Given the description of an element on the screen output the (x, y) to click on. 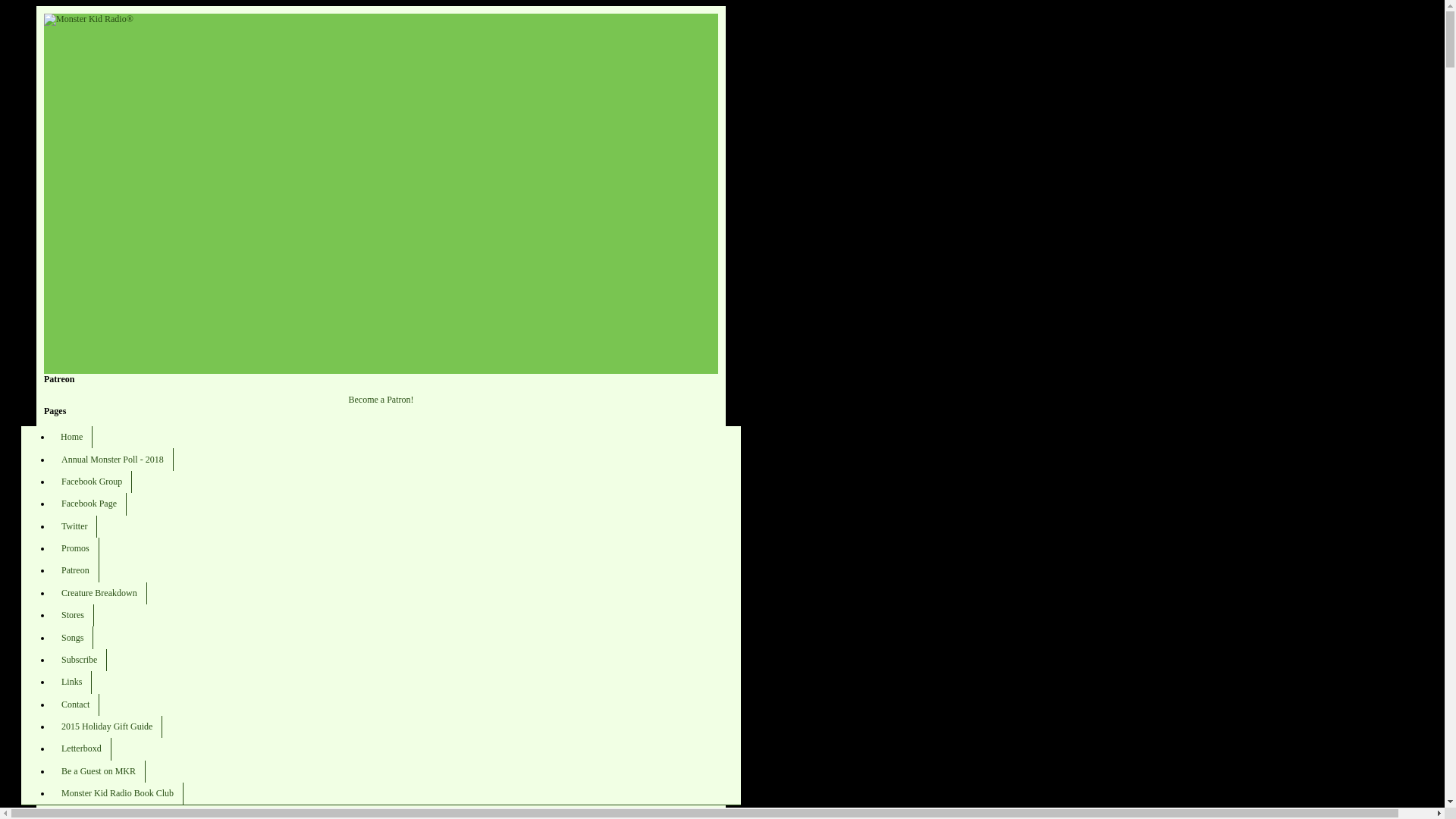
Be a Guest on MKR (97, 771)
Letterboxd (81, 748)
Stores (72, 615)
Subscribe (78, 659)
Contact (74, 703)
Facebook Page (88, 504)
Promos (74, 548)
Creature Breakdown (98, 593)
Songs (71, 637)
Twitter (73, 526)
Annual Monster Poll - 2018 (111, 458)
Become a Patron! (381, 398)
2015 Holiday Gift Guide (105, 726)
Monster Kid Radio Book Club (116, 793)
Facebook Group (91, 481)
